Given the description of an element on the screen output the (x, y) to click on. 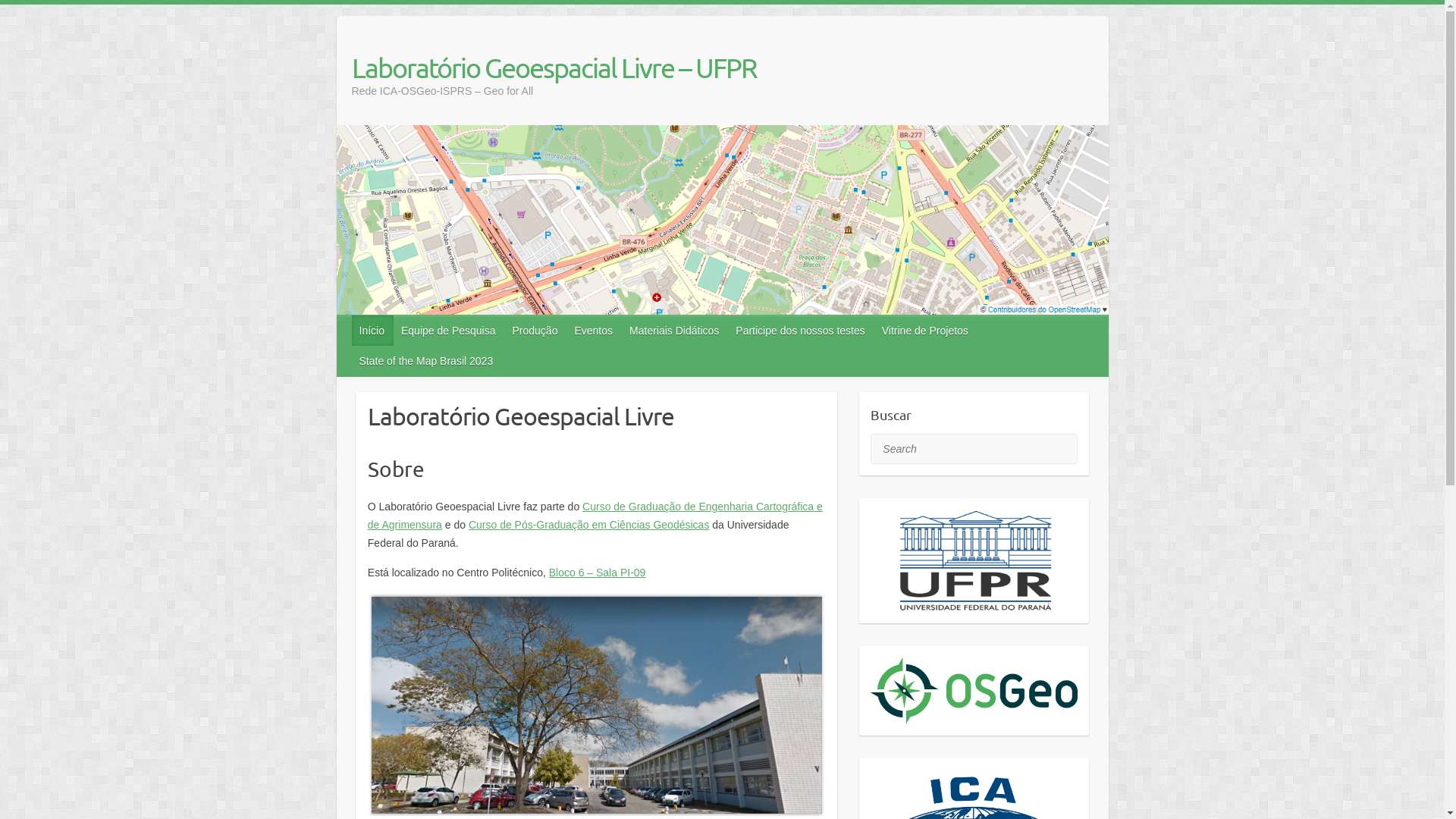
Vitrine de Projetos Element type: text (925, 330)
Participe dos nossos testes Element type: text (800, 330)
State of the Map Brasil 2023 Element type: text (426, 360)
Equipe de Pesquisa Element type: text (449, 330)
Eventos Element type: text (593, 330)
